Given the description of an element on the screen output the (x, y) to click on. 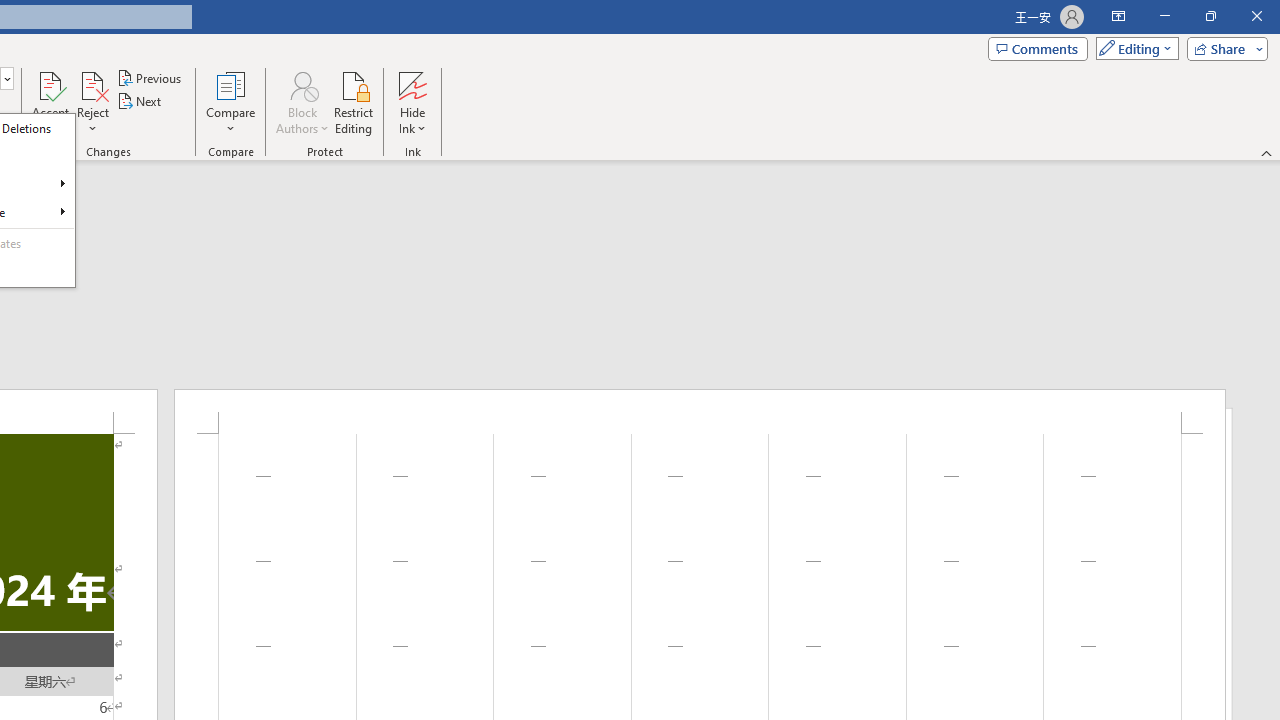
Block Authors (302, 102)
Block Authors (302, 84)
Hide Ink (412, 102)
